Given the description of an element on the screen output the (x, y) to click on. 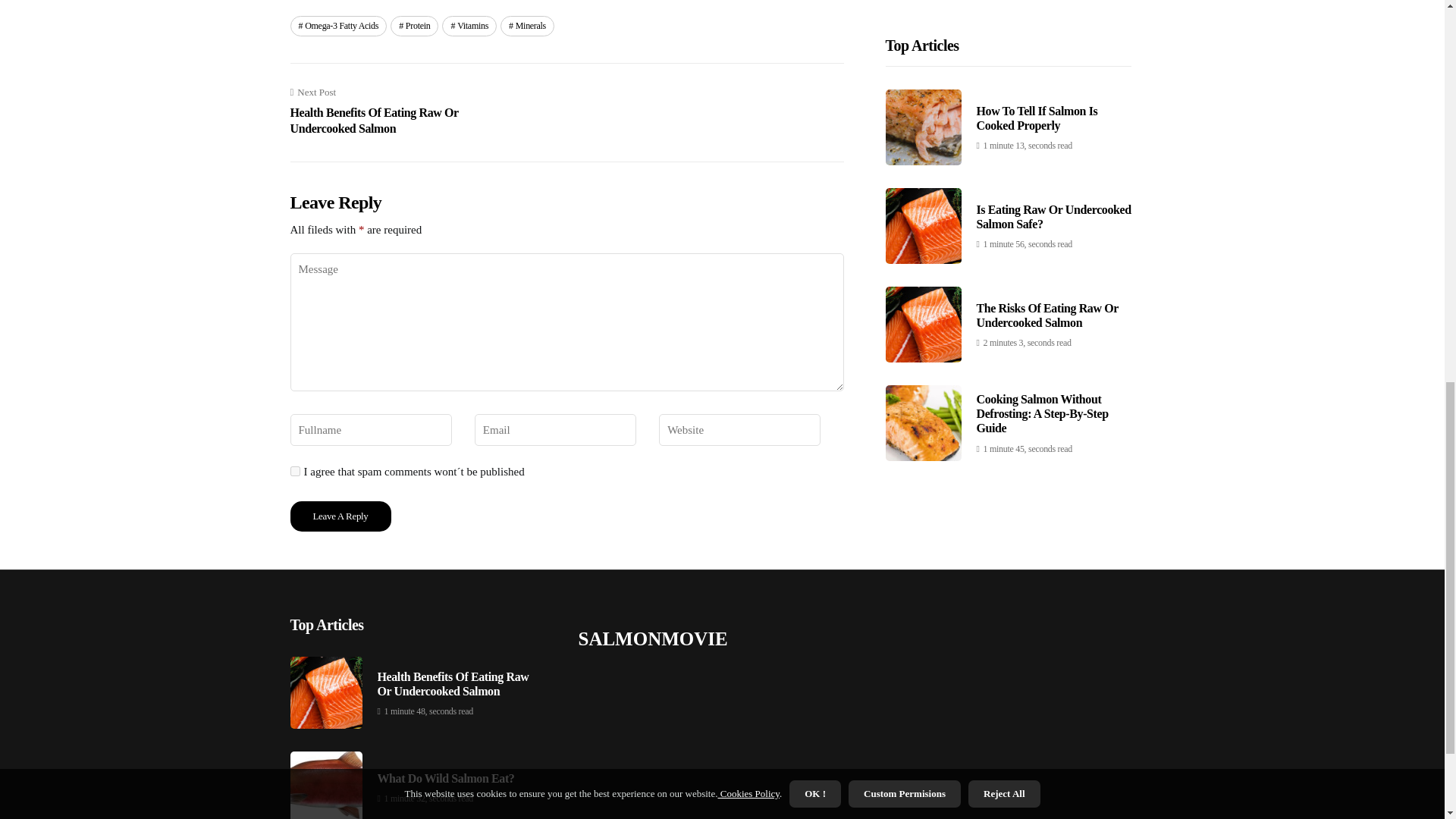
Minerals (527, 25)
Protein (414, 25)
Leave a Reply (339, 516)
yes (294, 470)
Omega-3 Fatty Acids (338, 25)
Leave a Reply (339, 516)
Vitamins (469, 25)
